Given the description of an element on the screen output the (x, y) to click on. 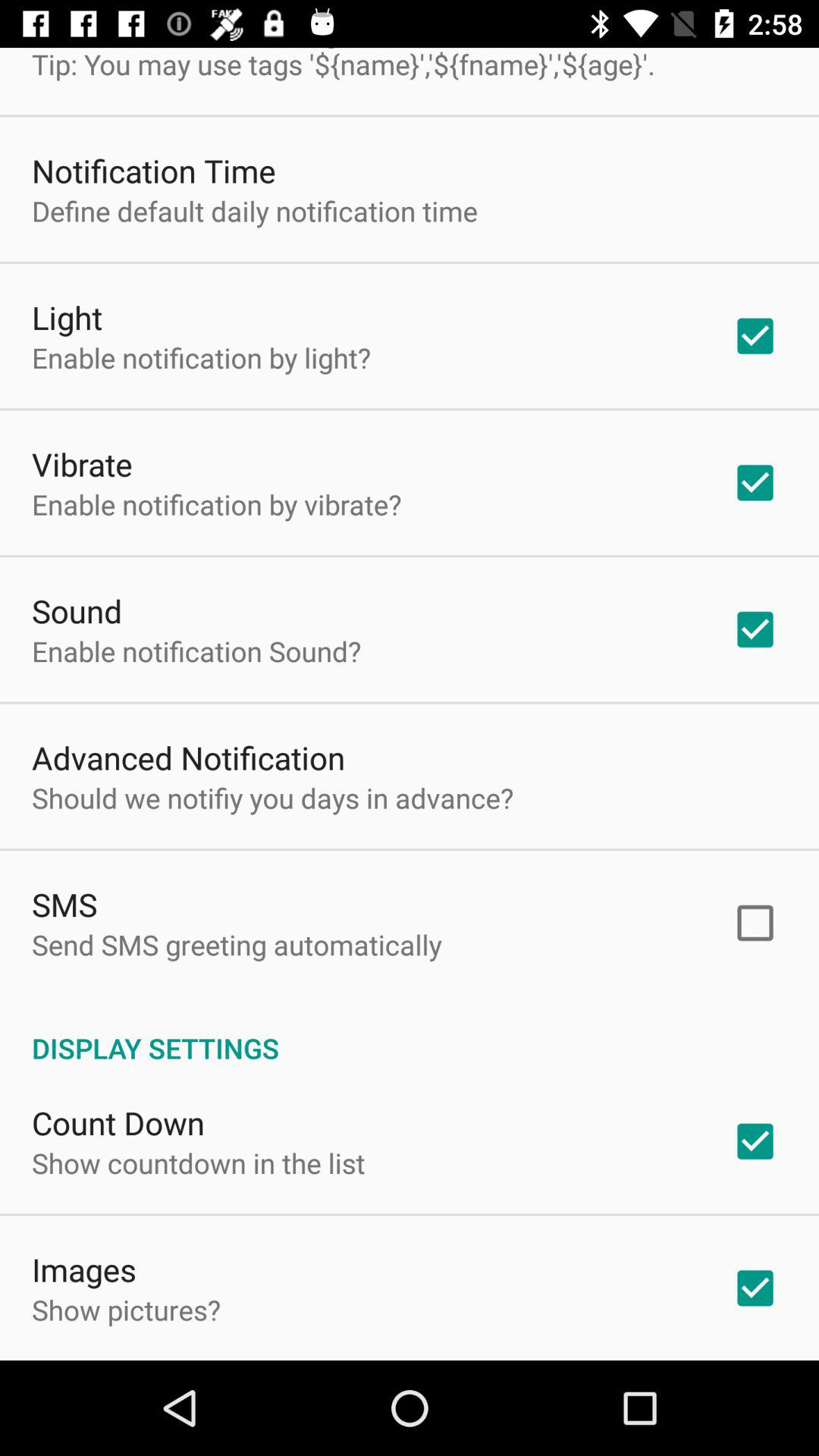
press count down (117, 1122)
